Given the description of an element on the screen output the (x, y) to click on. 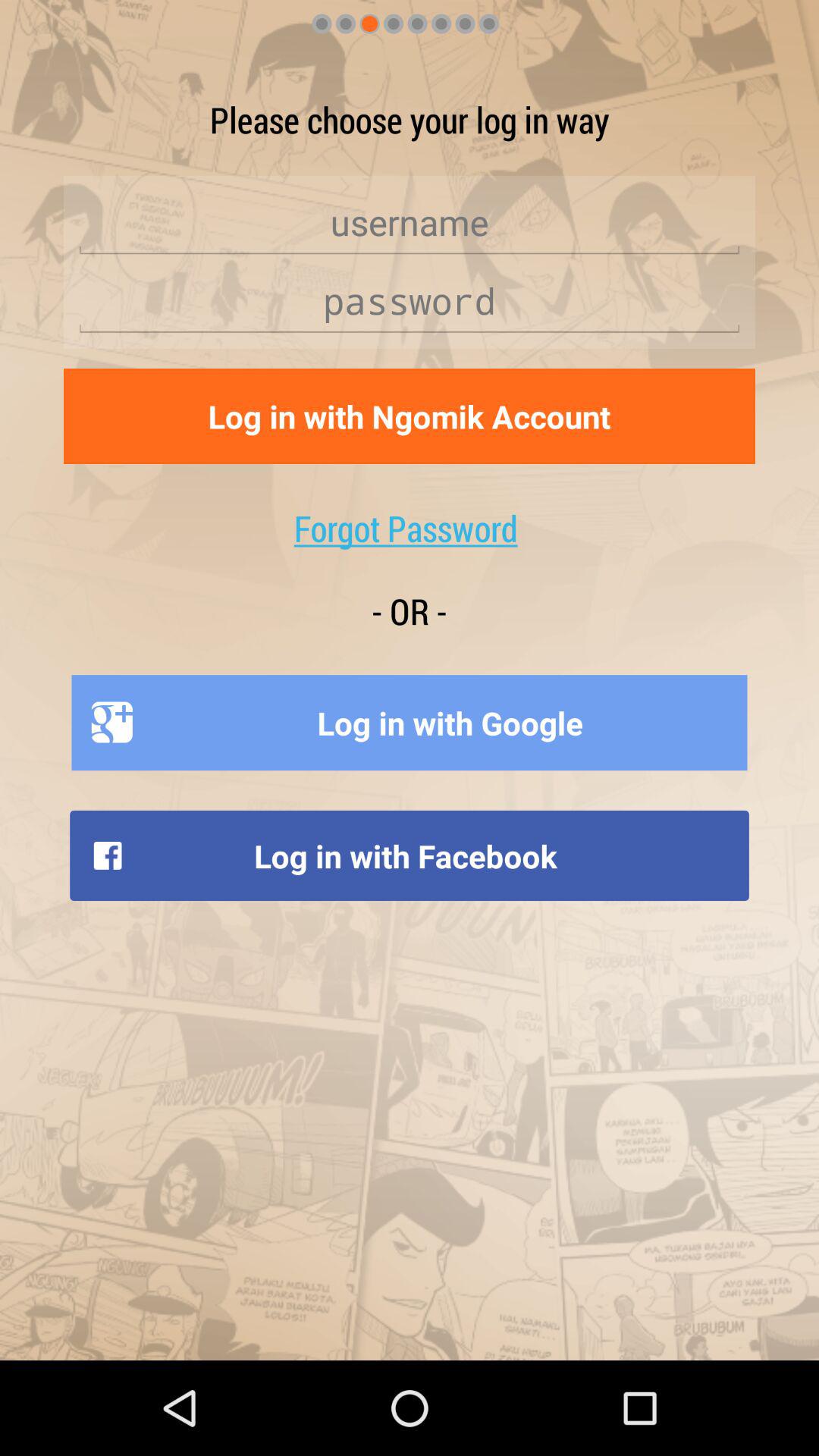
password (409, 301)
